Given the description of an element on the screen output the (x, y) to click on. 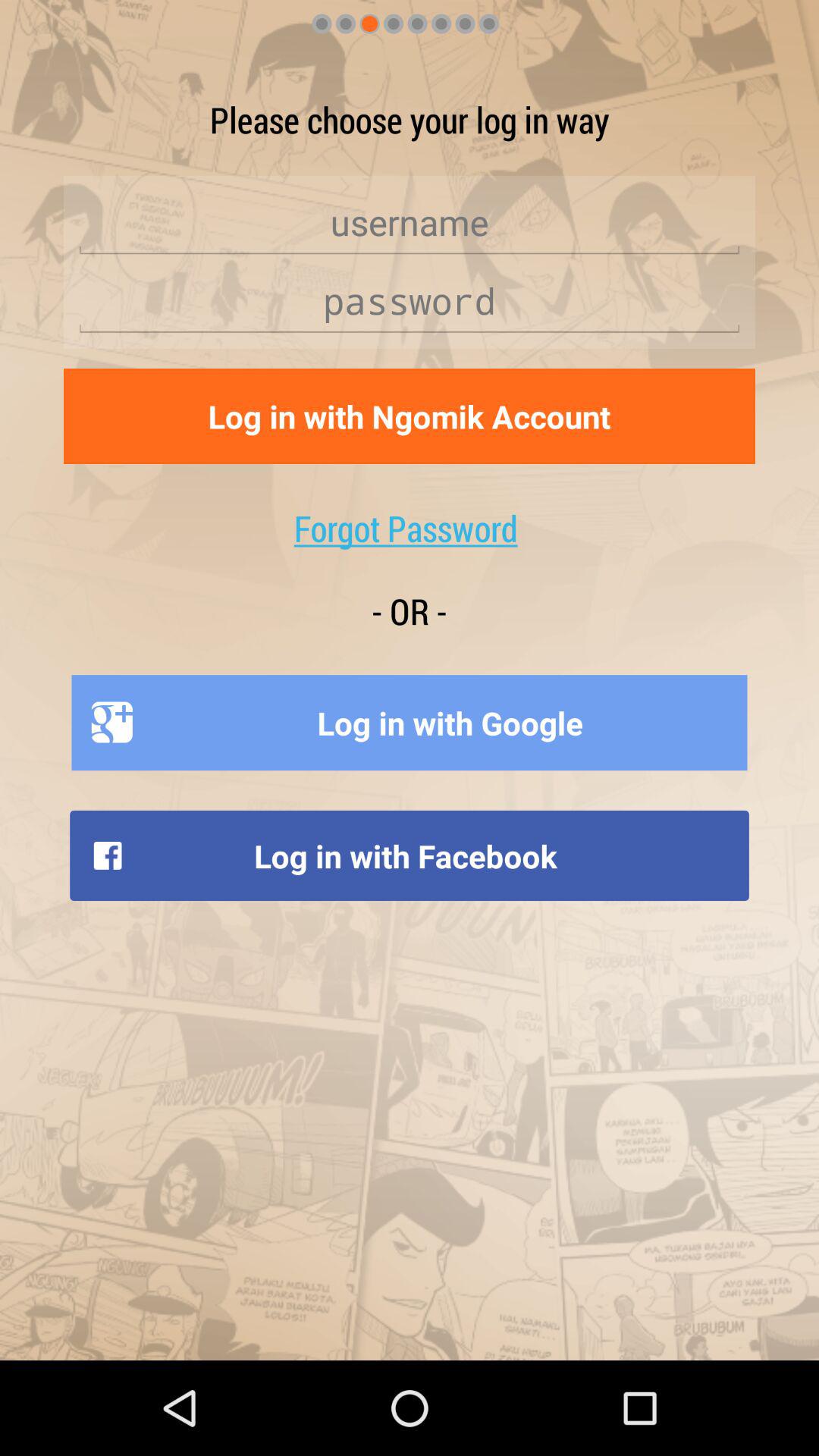
password (409, 301)
